Given the description of an element on the screen output the (x, y) to click on. 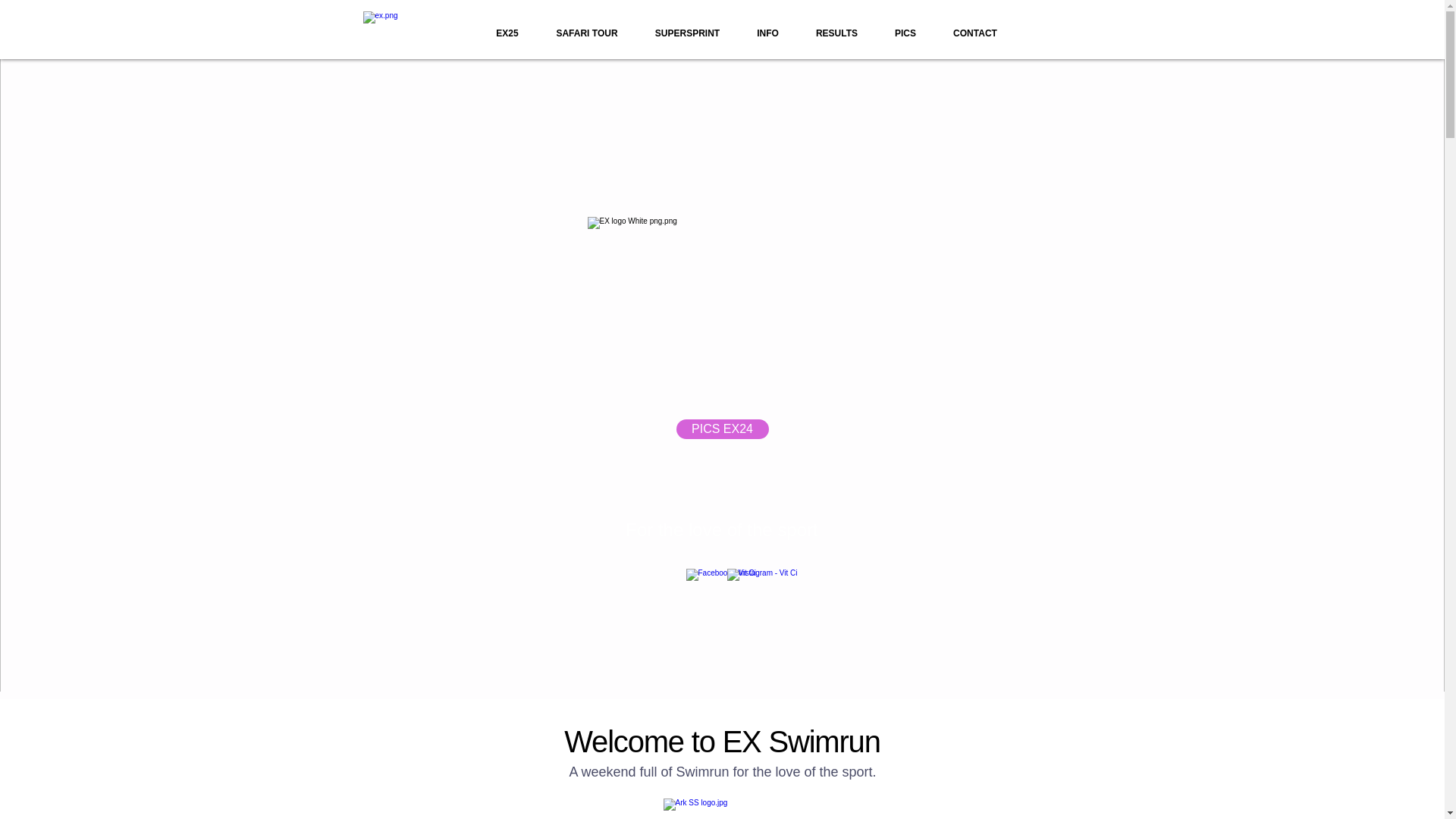
SUPERSPRINT (687, 33)
SAFARI TOUR (586, 33)
INFO (767, 33)
CONTACT (974, 33)
EX25 (507, 33)
PICS EX24 (722, 428)
